Given the description of an element on the screen output the (x, y) to click on. 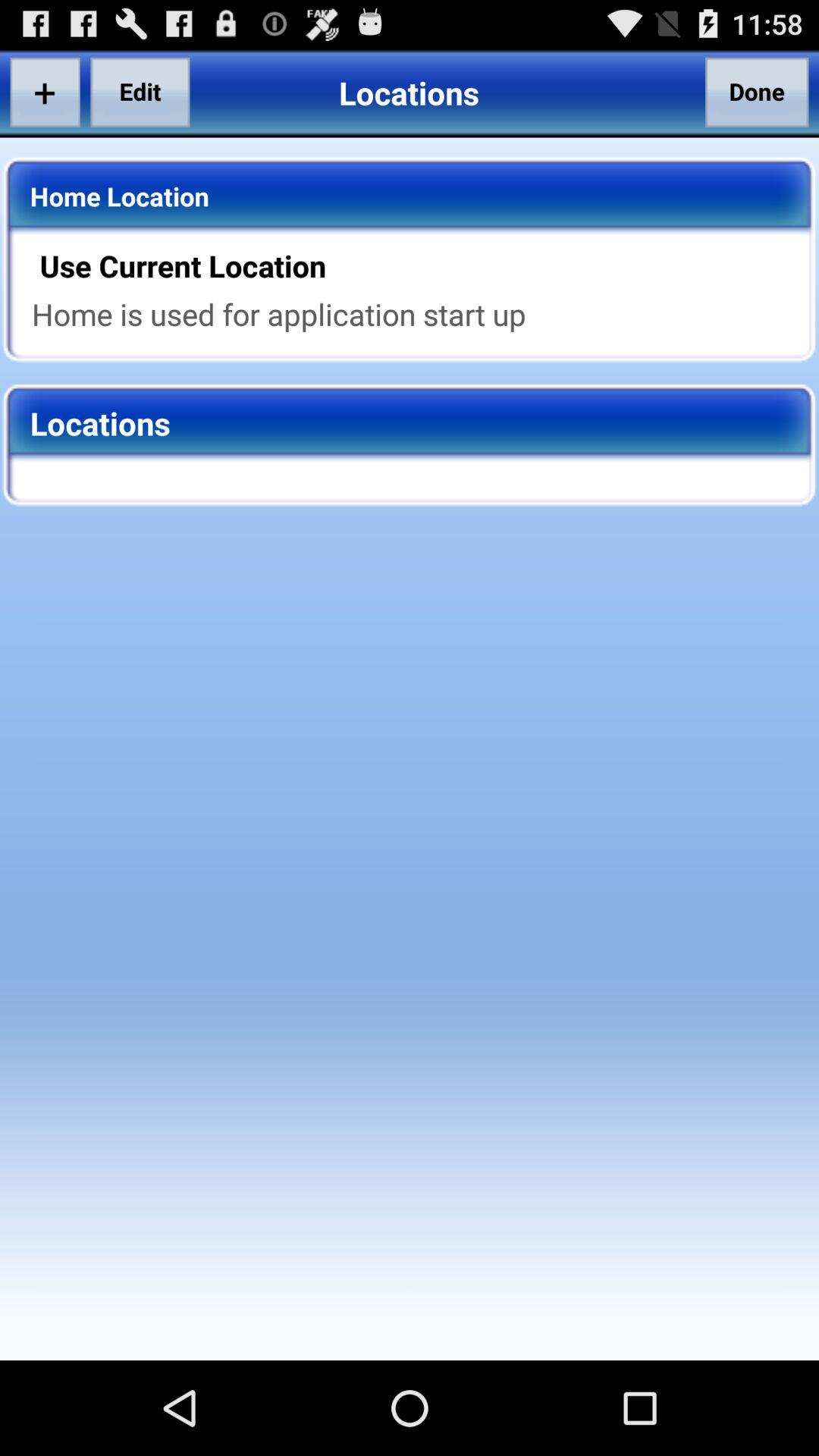
jump until the use current location item (419, 265)
